Given the description of an element on the screen output the (x, y) to click on. 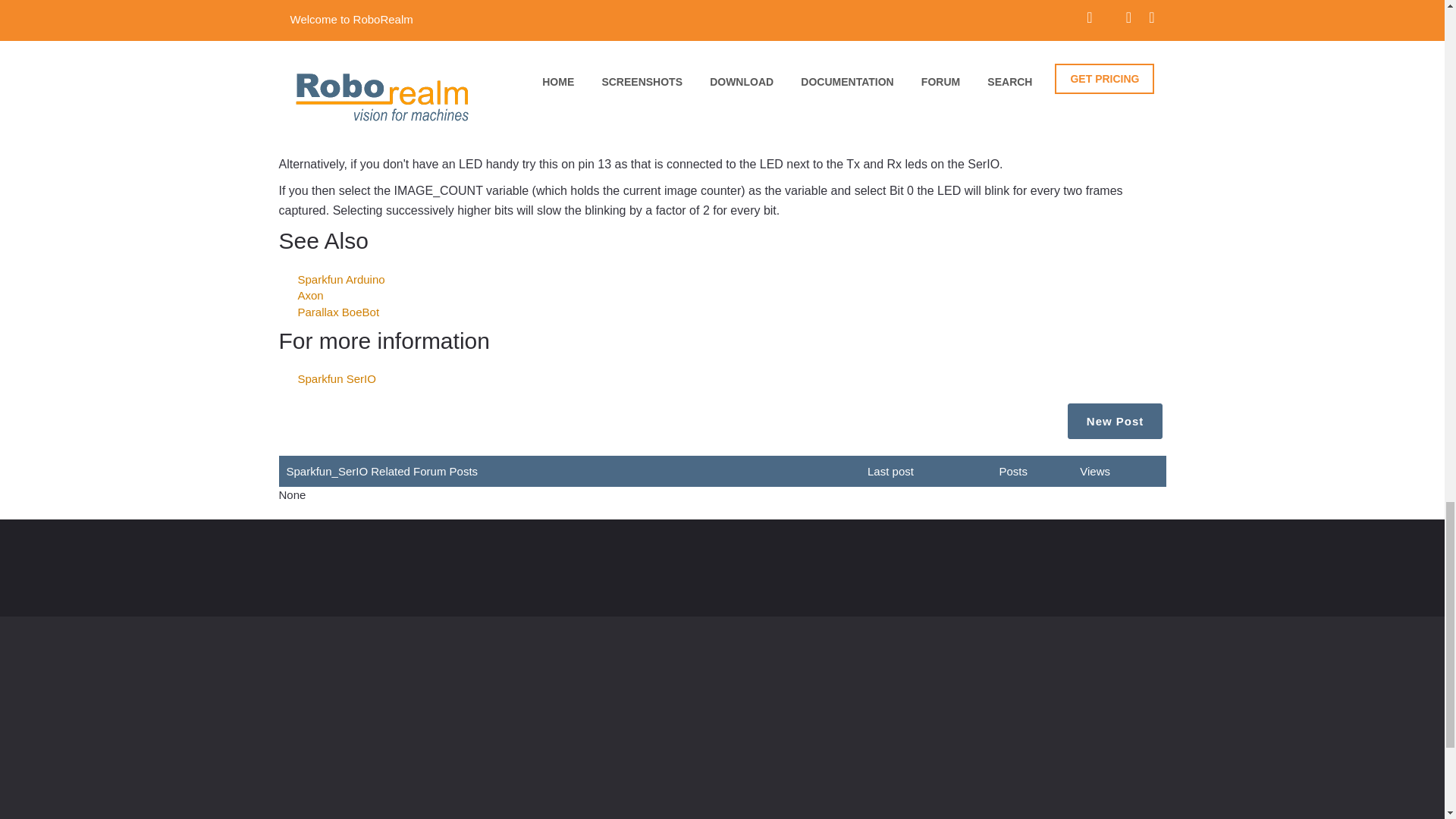
Sparkfun SerIO (336, 378)
Sparkfun Arduino (340, 278)
Parallax BoeBot (337, 311)
New Post (1115, 420)
Axon (310, 295)
